Given the description of an element on the screen output the (x, y) to click on. 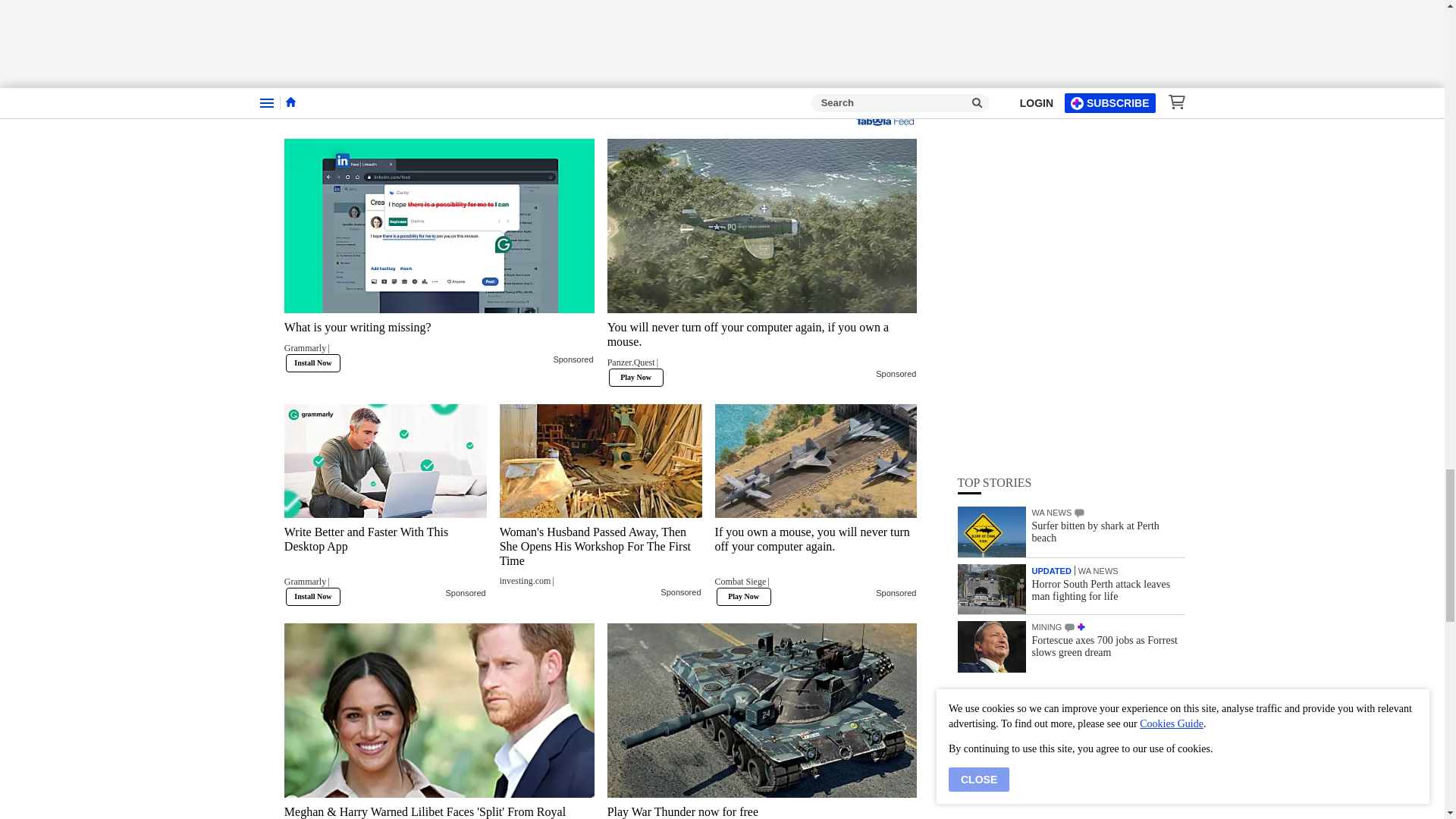
Write Better and Faster With This Desktop App (384, 460)
What is your writing missing? (438, 225)
Write Better and Faster With This Desktop App (384, 560)
What is your writing missing? (438, 341)
